Given the description of an element on the screen output the (x, y) to click on. 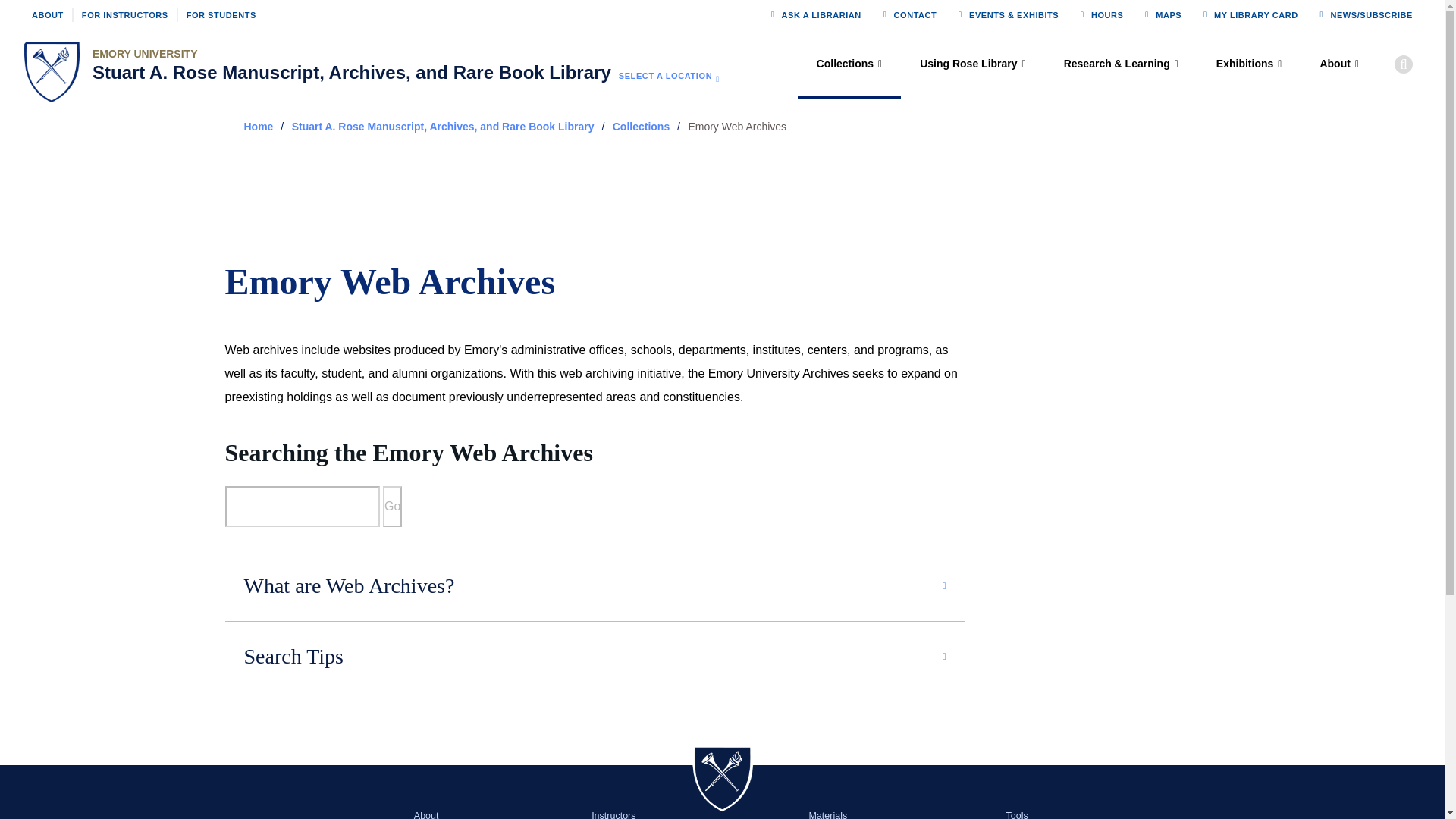
ABOUT (48, 14)
ASK A LIBRARIAN (821, 14)
Link to Emory University (352, 54)
MY LIBRARY CARD (1256, 14)
HOURS (1106, 14)
See your current Emory Libraries loans, requests, and more (1256, 14)
Stuart A. Rose Manuscript, Archives, and Rare Book Library (352, 72)
Emory Logo (52, 71)
Stuart A. Rose Manuscript, Archives, and Rare Book Library (352, 72)
